Given the description of an element on the screen output the (x, y) to click on. 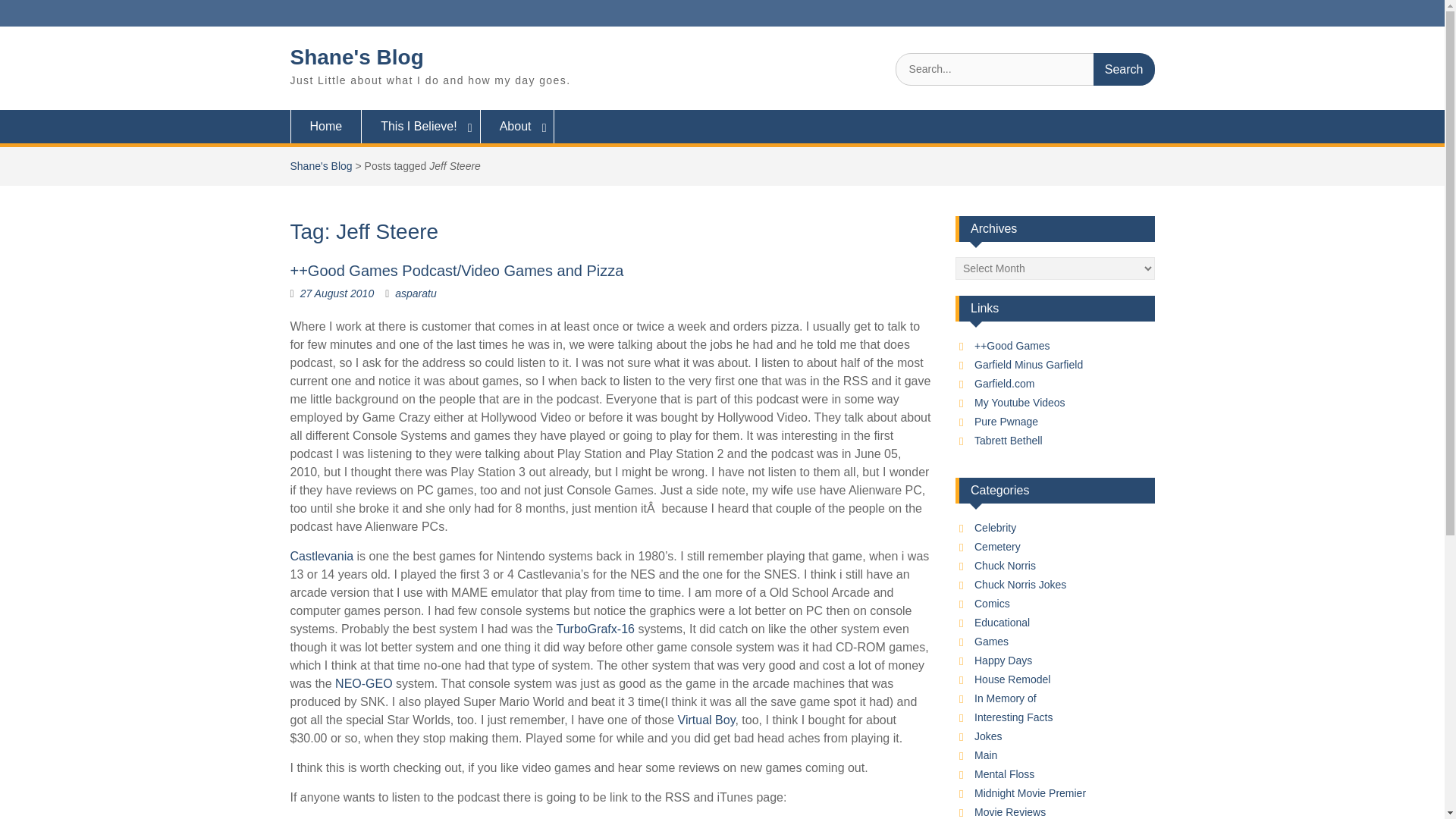
Search (1123, 69)
27 August 2010 (336, 293)
Shane's Blog (320, 165)
TurboGrafx-16 (594, 628)
Castlevania (321, 555)
asparatu (414, 293)
Virtual Boy (706, 719)
Shane's Blog (356, 56)
Search (1123, 69)
This I Believe! (420, 126)
